Given the description of an element on the screen output the (x, y) to click on. 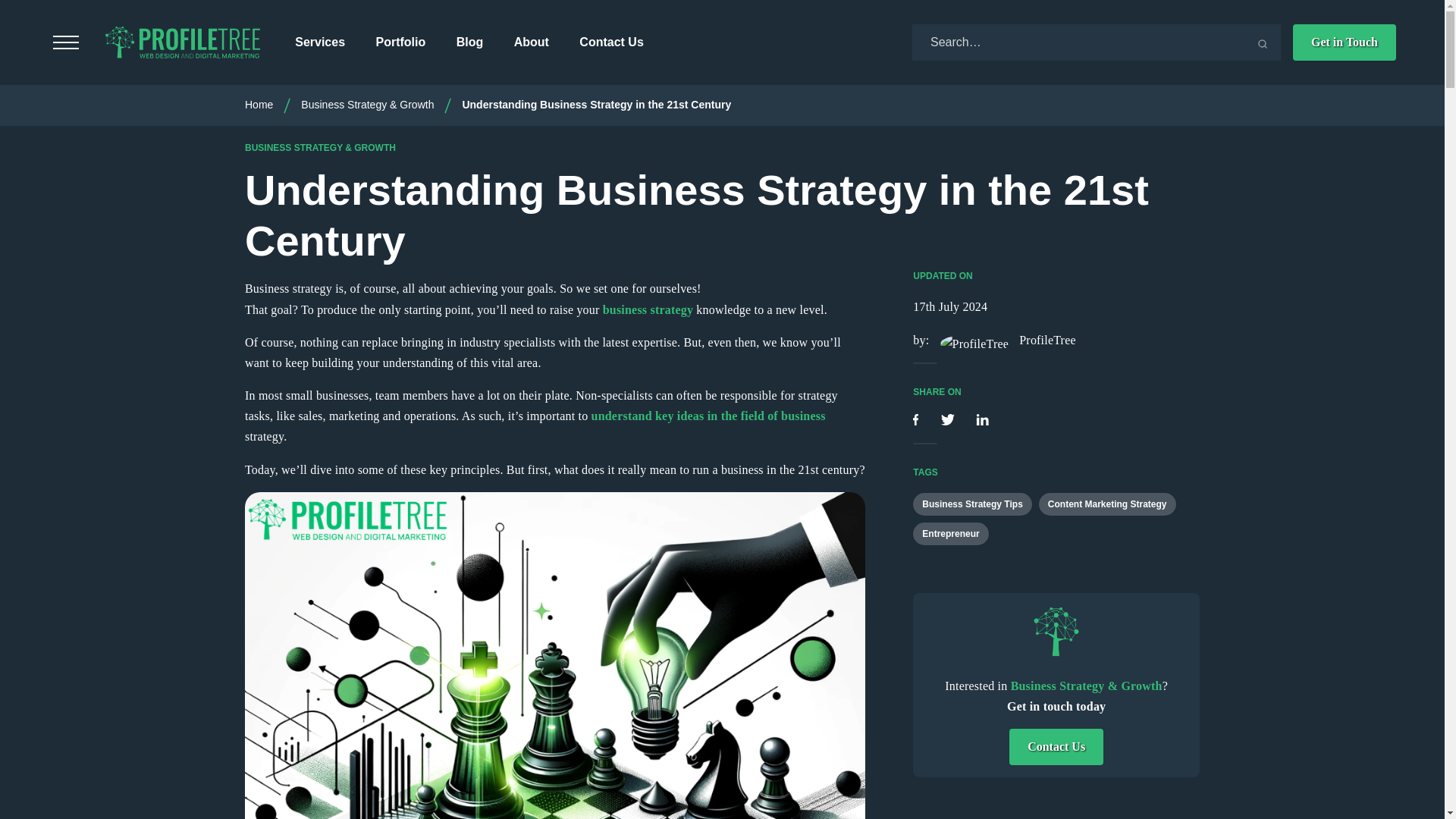
Share on LinkedIn (981, 420)
business strategy (647, 309)
Portfolio Analysis: An Essential Overview (708, 415)
Services (320, 42)
Blog (470, 42)
Share on Twitter (949, 420)
Contact Us (611, 42)
About (530, 42)
Get in Touch (1344, 42)
Home (258, 104)
understand key ideas in the field of business (708, 415)
Portfolio (400, 42)
